Given the description of an element on the screen output the (x, y) to click on. 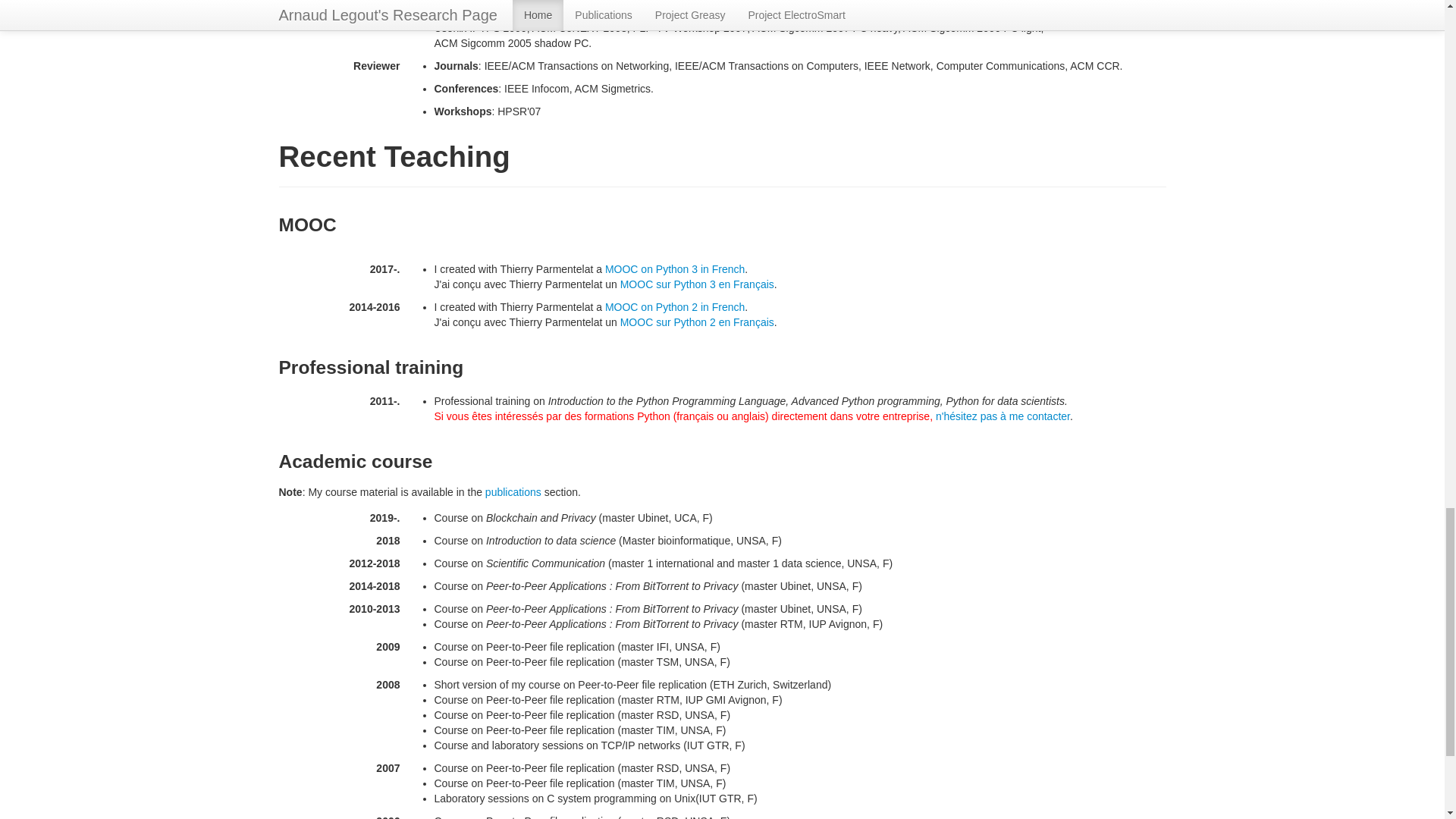
MOOC on Python 3 in French (674, 268)
